Given the description of an element on the screen output the (x, y) to click on. 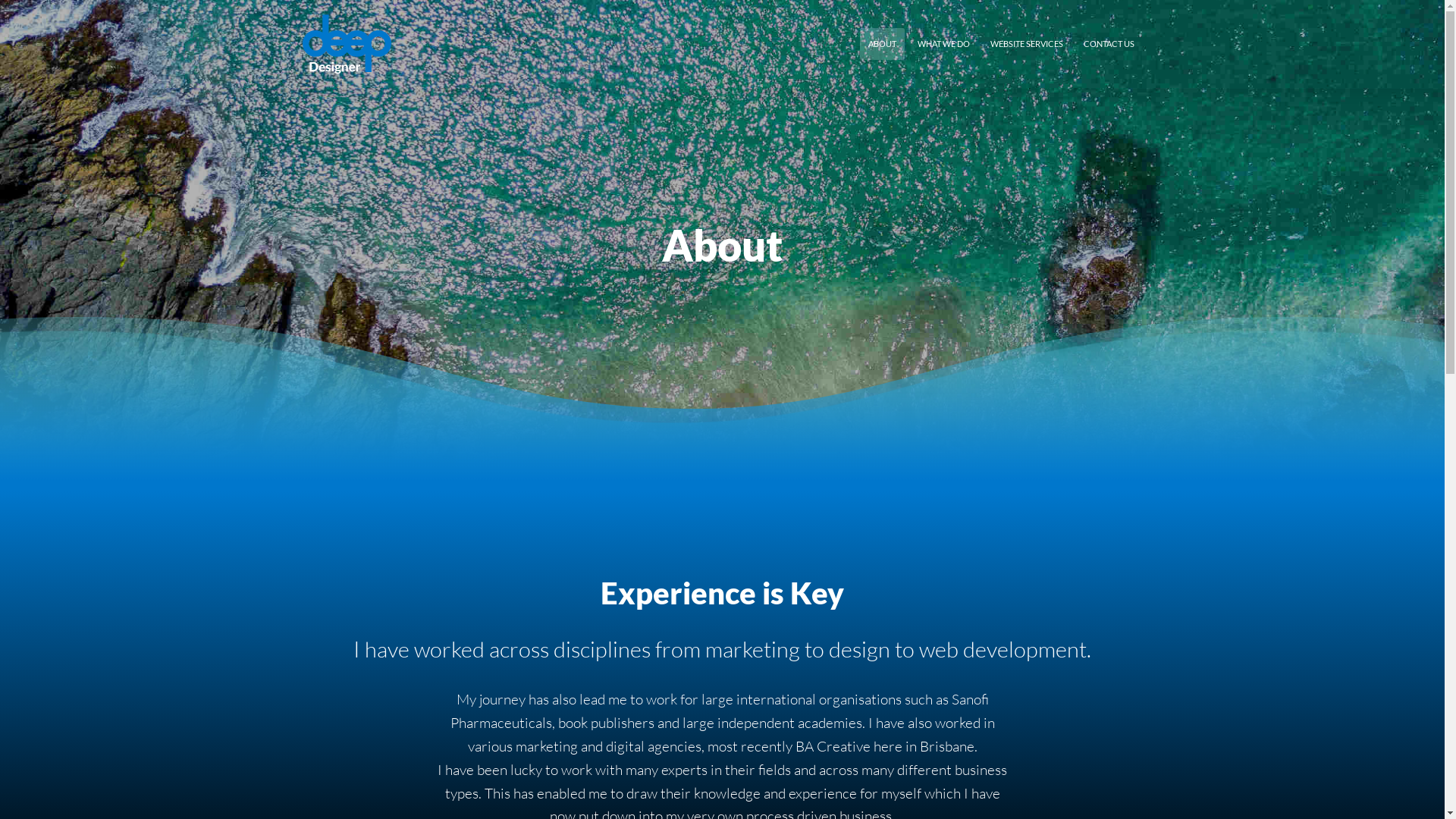
WEBSITE SERVICES Element type: text (1026, 43)
ABOUT Element type: text (881, 43)
WHAT WE DO Element type: text (942, 43)
Deep Designer Element type: hover (346, 44)
CONTACT US Element type: text (1108, 43)
